Given the description of an element on the screen output the (x, y) to click on. 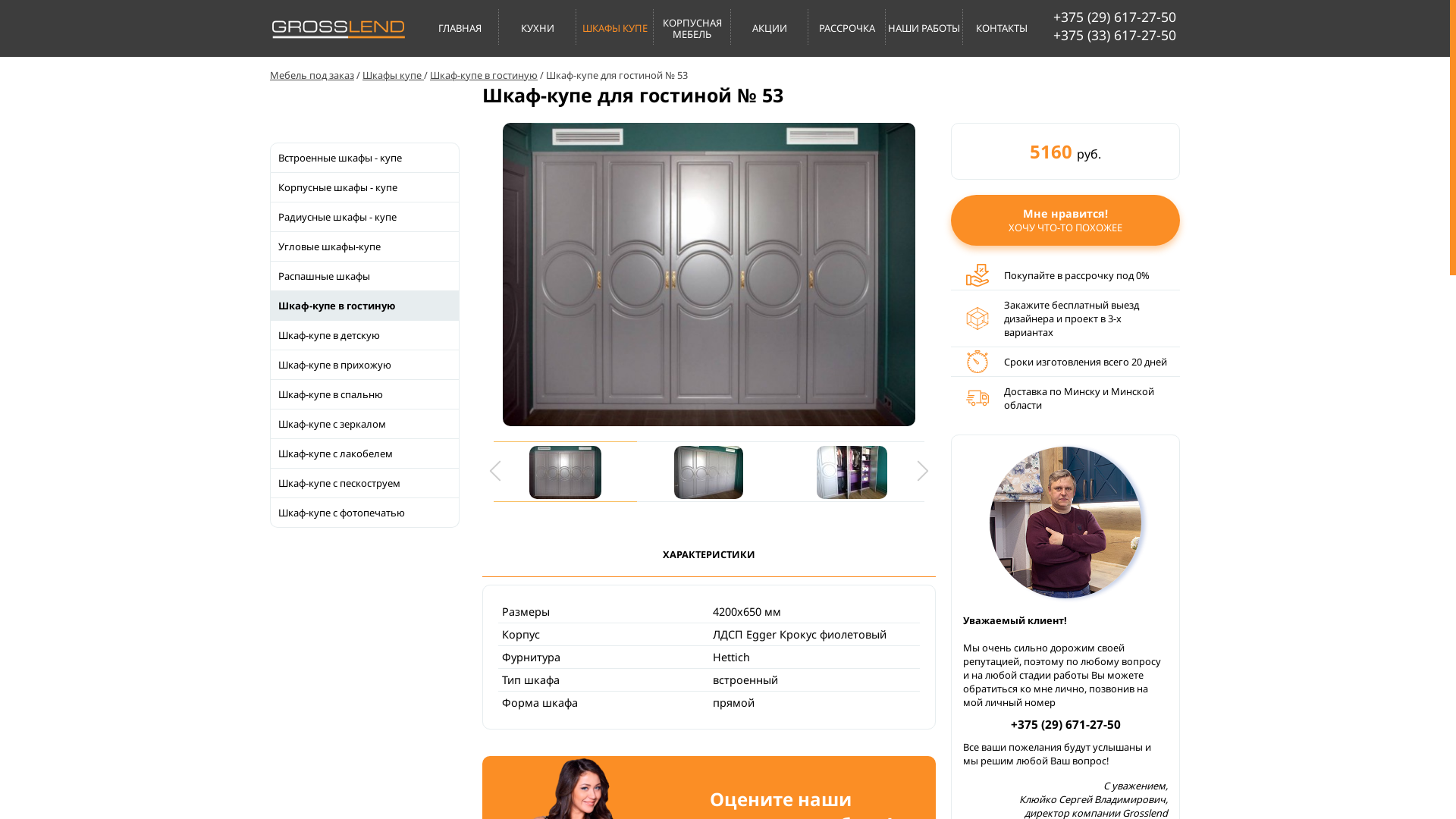
+375 (29) 617-27-50 Element type: text (1114, 16)
+375 (29) 671-27-50 Element type: text (1065, 724)
+375 (33) 617-27-50 Element type: text (1114, 34)
